Given the description of an element on the screen output the (x, y) to click on. 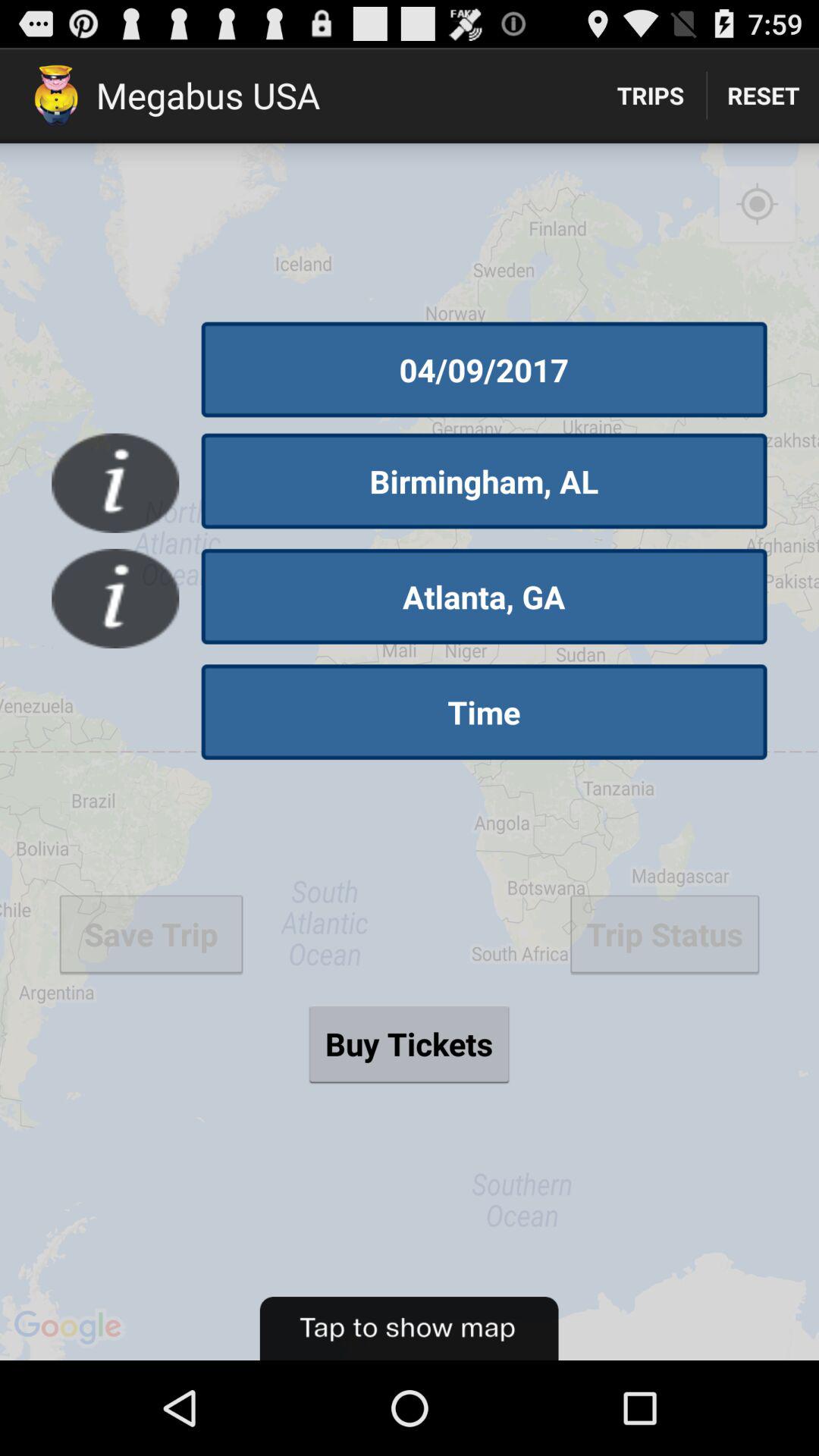
jump until 04/09/2017 button (484, 369)
